Given the description of an element on the screen output the (x, y) to click on. 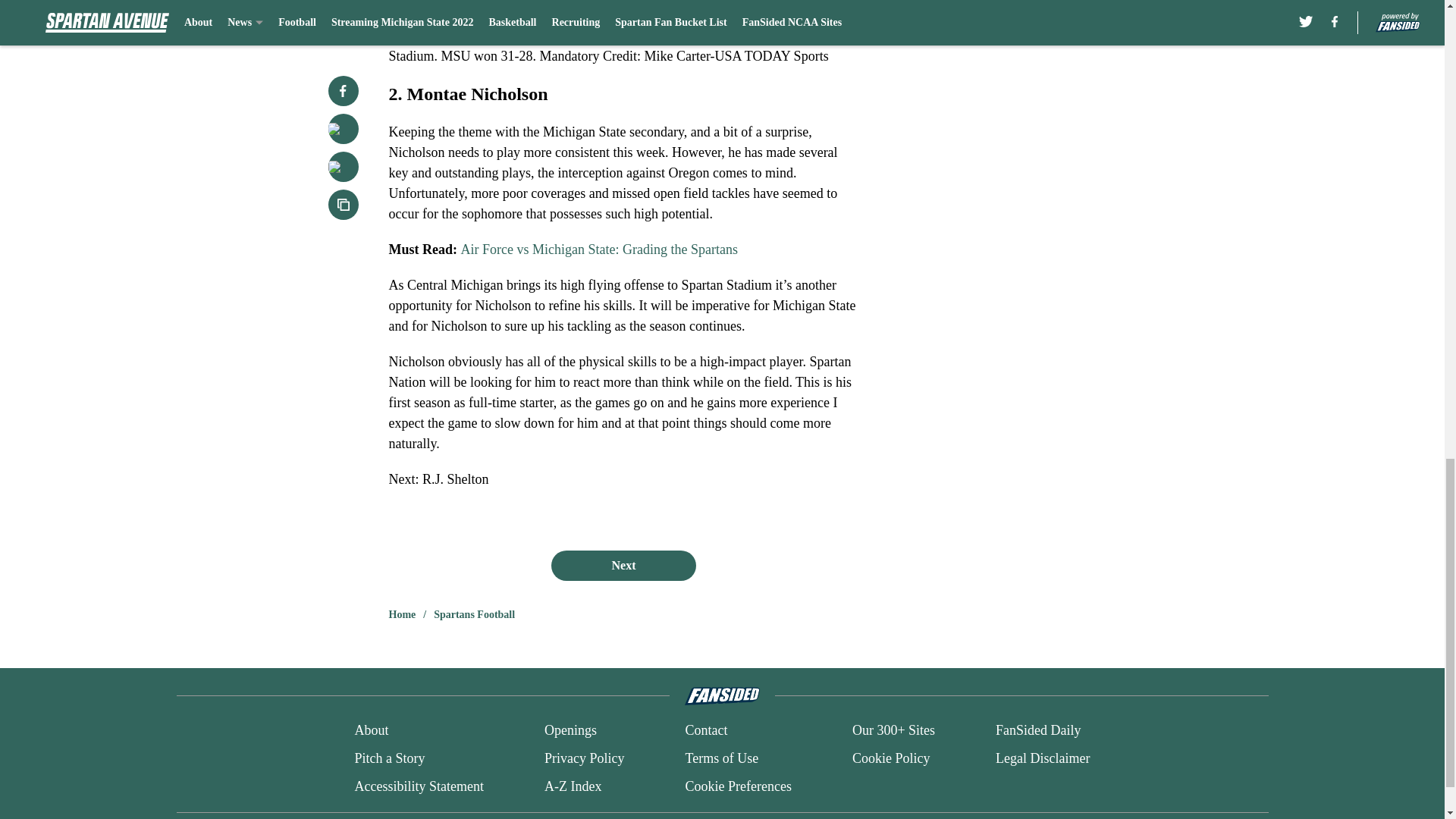
Contact (705, 730)
Privacy Policy (584, 758)
Home (401, 614)
About (370, 730)
Spartans Football (474, 614)
Air Force vs Michigan State: Grading the Spartans (599, 249)
Next (622, 565)
Openings (570, 730)
FanSided Daily (1038, 730)
Pitch a Story (389, 758)
